Given the description of an element on the screen output the (x, y) to click on. 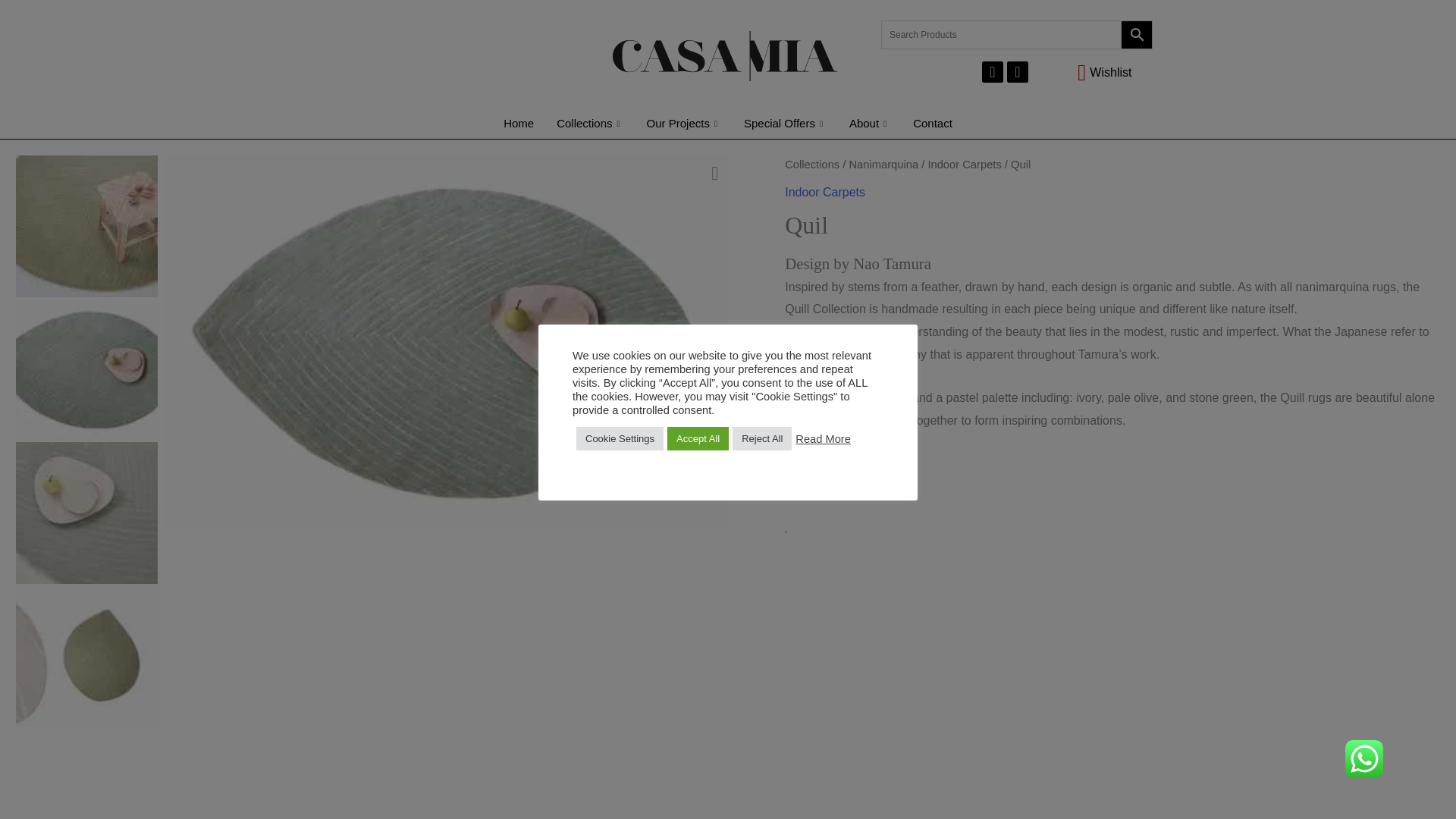
Instagram (1017, 71)
Our Projects (683, 123)
Collections (589, 123)
Home (518, 123)
Facebook-f (992, 71)
Wishlist (1087, 72)
